Given the description of an element on the screen output the (x, y) to click on. 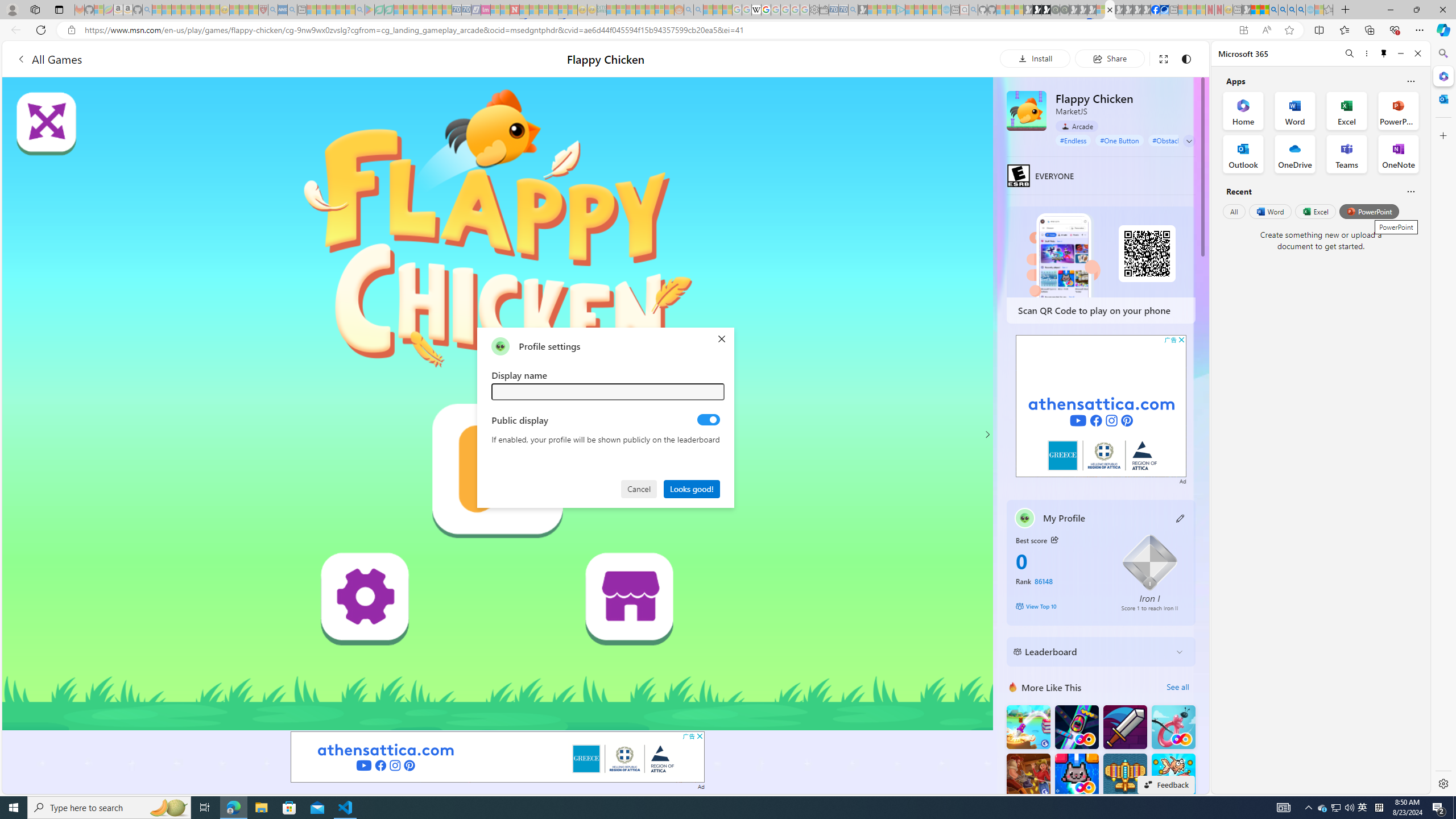
Dungeon Master Knight (1124, 726)
Home | Sky Blue Bikes - Sky Blue Bikes - Sleeping (945, 9)
AutomationID: canvas (497, 403)
#One Button (1119, 140)
More Like This (1012, 686)
Arcade (1076, 126)
Change to dark mode (1185, 58)
Excel Office App (1346, 110)
